Given the description of an element on the screen output the (x, y) to click on. 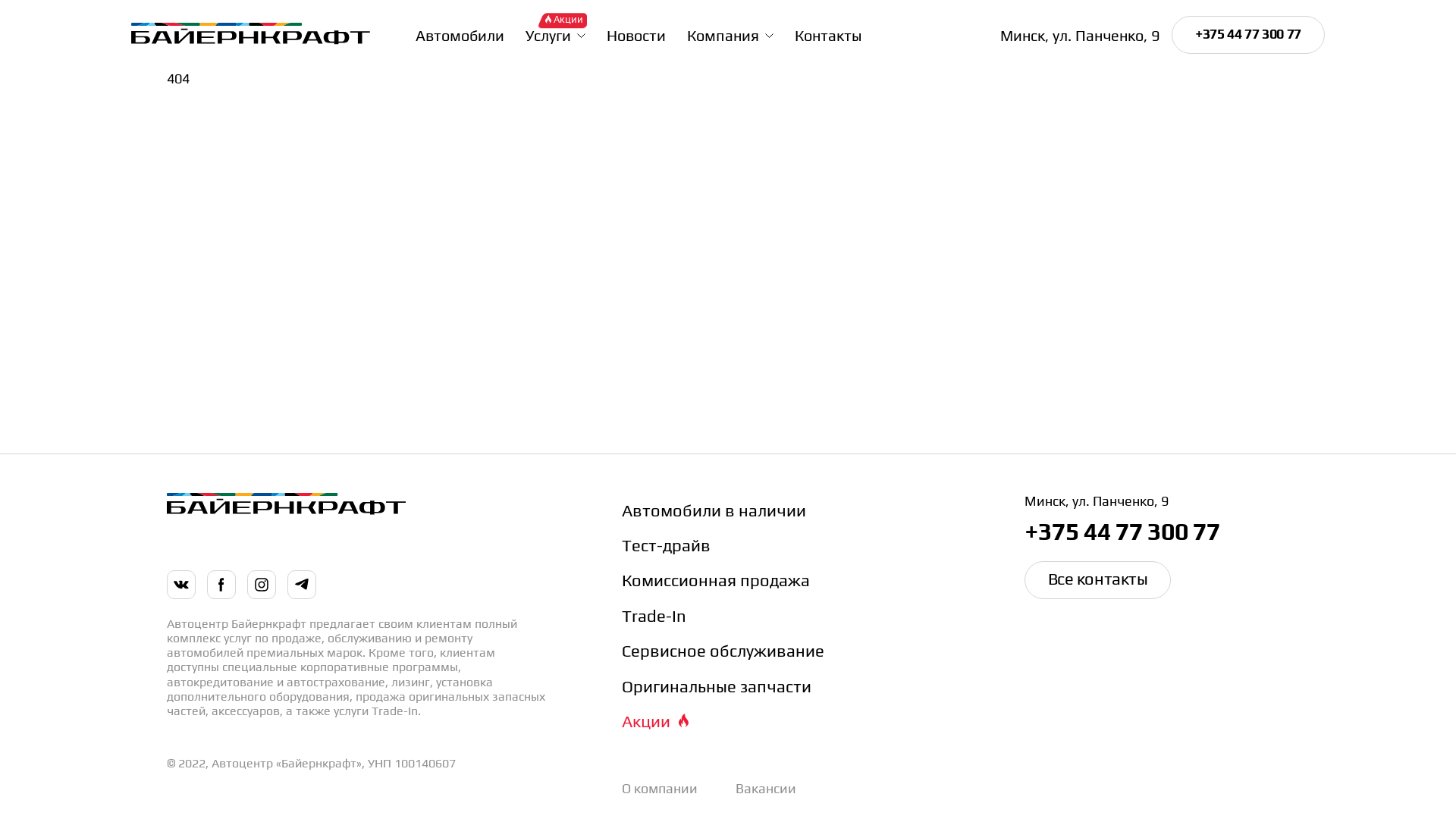
+375 44 77 300 77 Element type: text (1247, 34)
Trade-In Element type: text (784, 614)
+375 44 77 300 77 Element type: text (1156, 530)
